Given the description of an element on the screen output the (x, y) to click on. 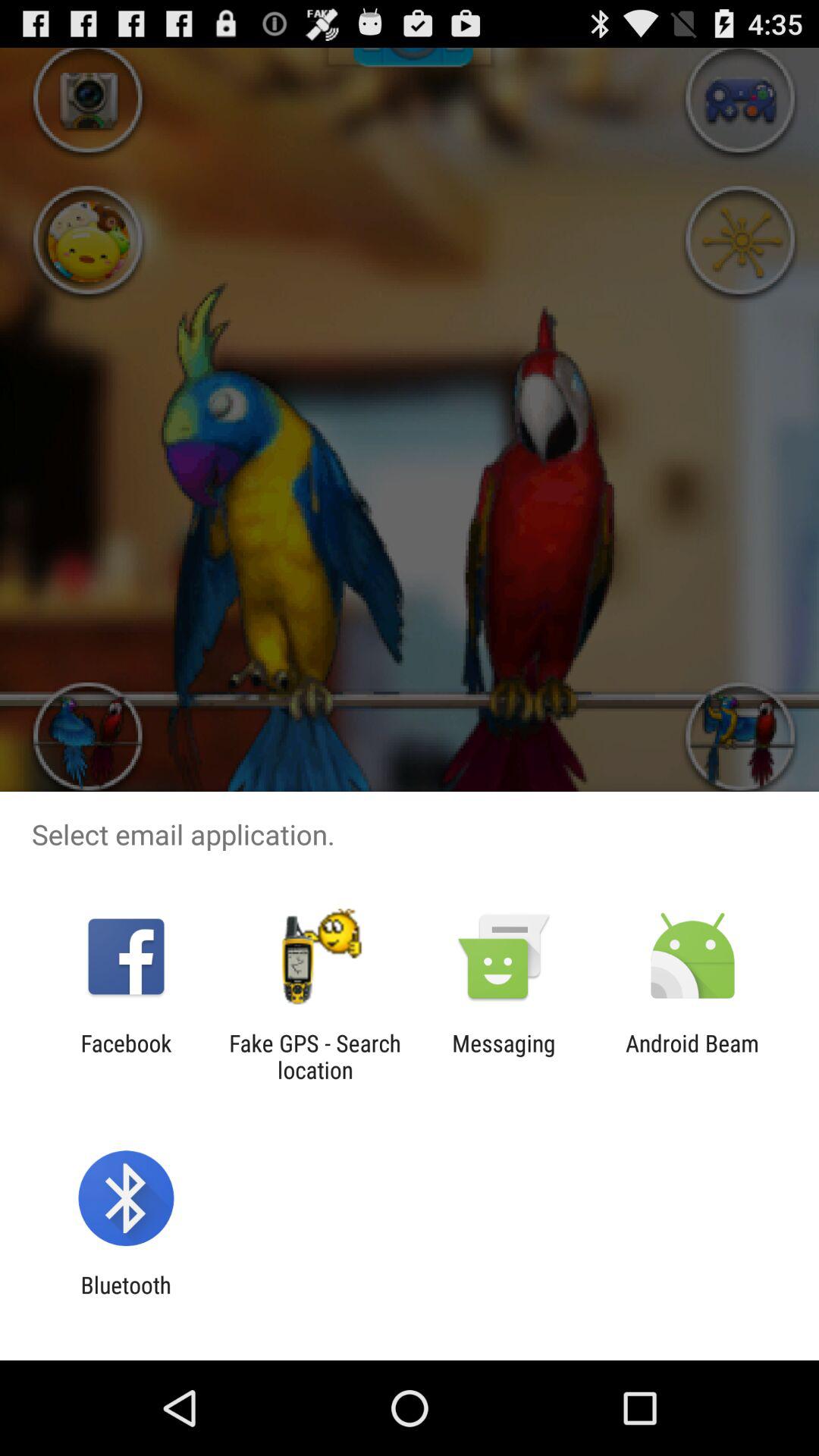
turn off app next to the fake gps search icon (125, 1056)
